Given the description of an element on the screen output the (x, y) to click on. 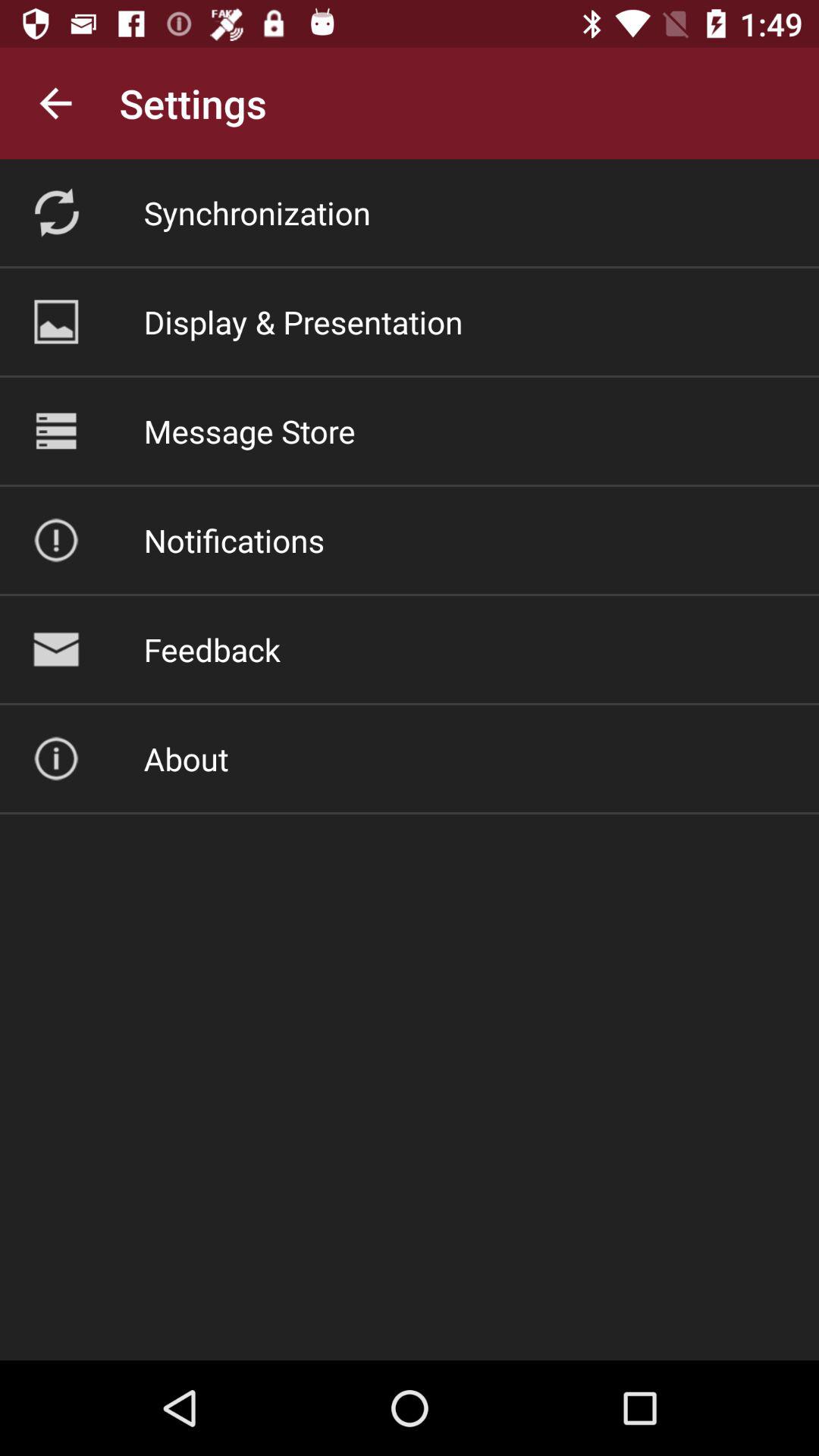
turn off icon below the feedback item (185, 758)
